Given the description of an element on the screen output the (x, y) to click on. 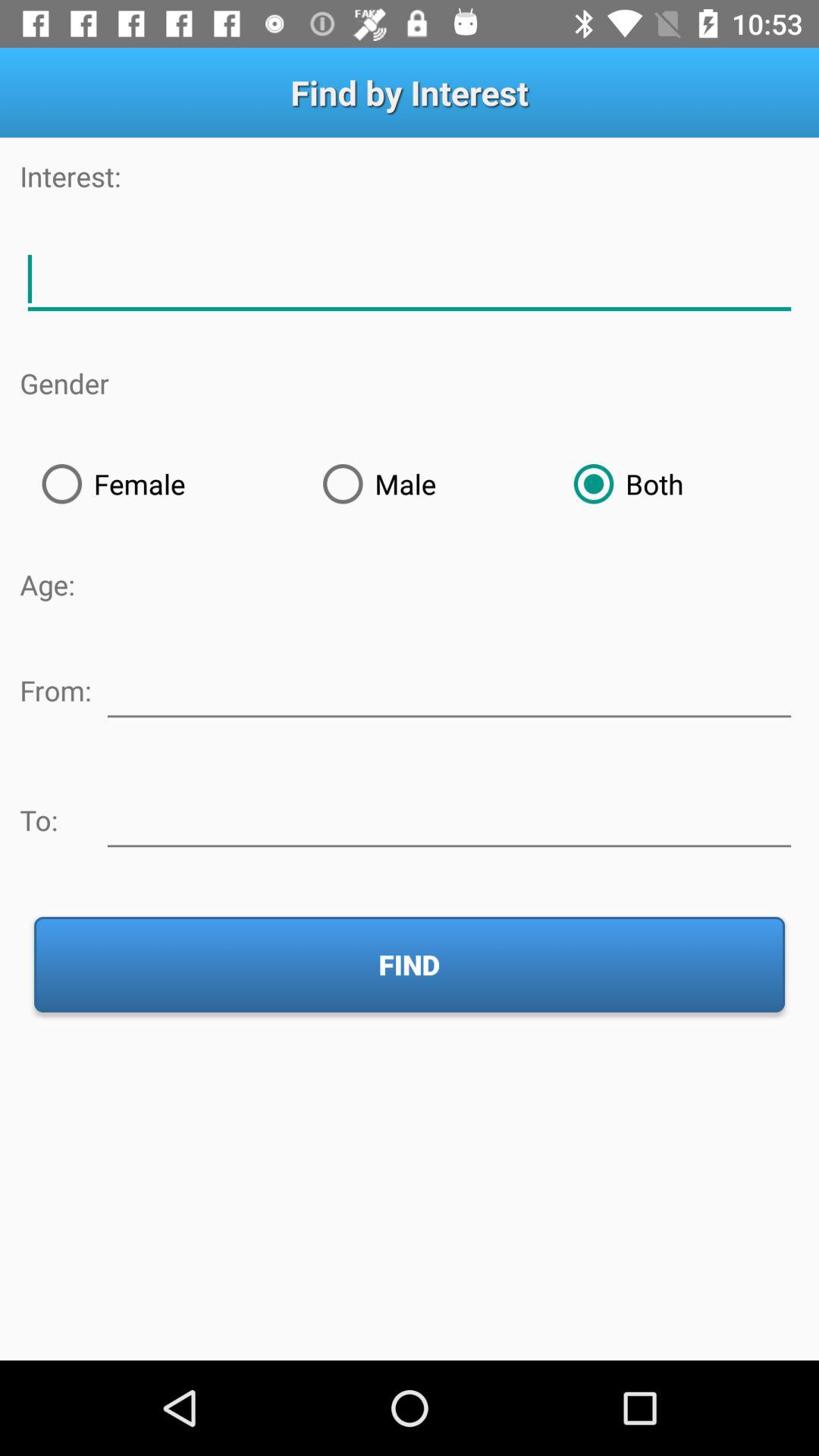
turn off icon at the top right corner (674, 483)
